Given the description of an element on the screen output the (x, y) to click on. 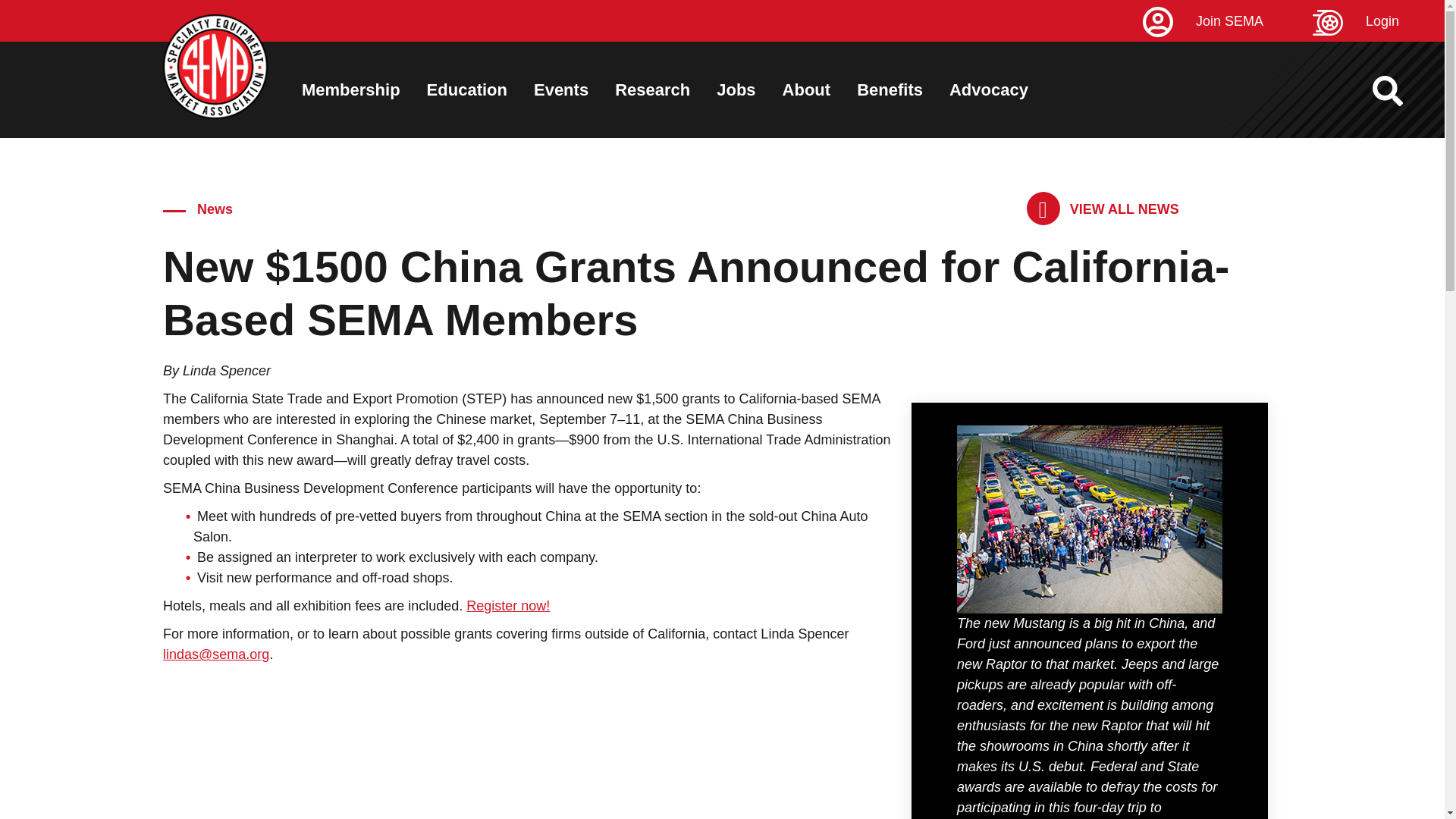
Search Sema.org (1401, 91)
china (1089, 519)
Register now! (507, 605)
Education (466, 89)
Advocacy (988, 89)
VIEW ALL NEWS (1102, 209)
Login (1378, 20)
Join SEMA (1225, 20)
Benefits (889, 89)
